Given the description of an element on the screen output the (x, y) to click on. 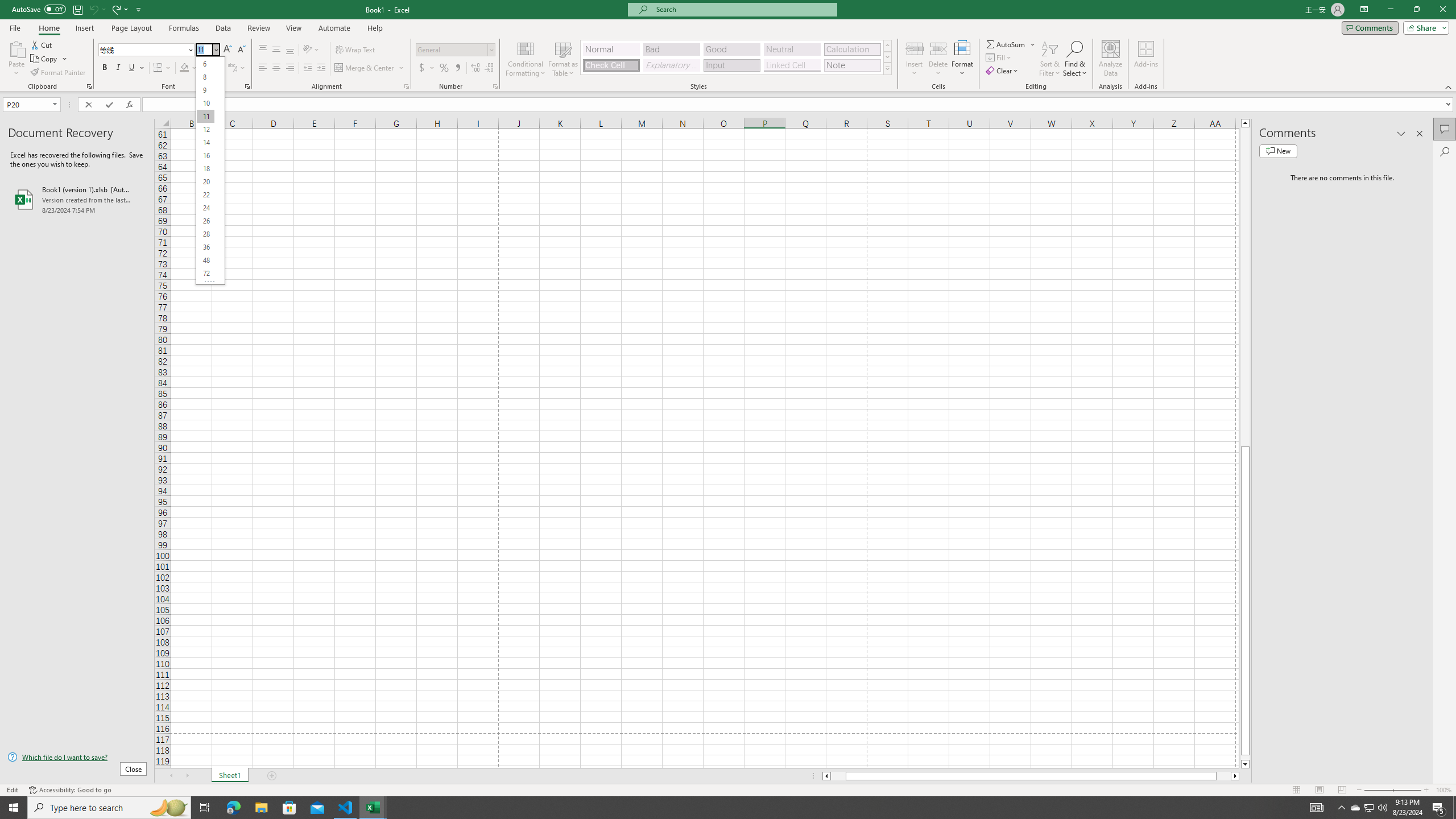
Clear (1003, 69)
System (6, 6)
6 (205, 63)
Ribbon Display Options (1364, 9)
Analyze Data (1110, 58)
Format Cell Font (247, 85)
Sort & Filter (1049, 58)
Normal (1296, 790)
Undo (92, 9)
Close (215, 49)
Show Phonetic Field (231, 67)
Check Cell (611, 65)
Row Down (887, 56)
Find & Select (1075, 58)
24 (205, 207)
